Given the description of an element on the screen output the (x, y) to click on. 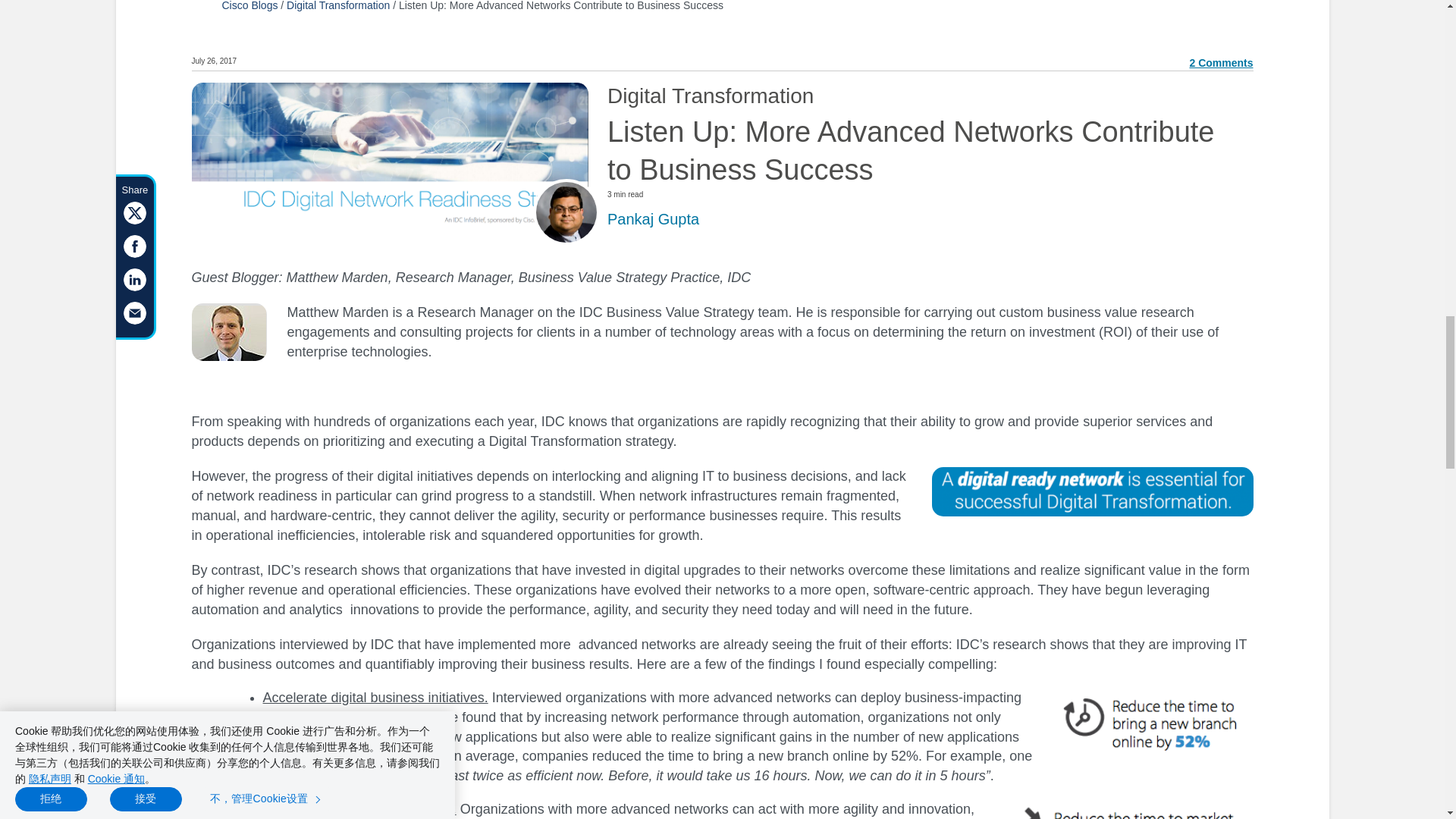
Posts by Pankaj Gupta (652, 218)
Cisco Blogs (249, 5)
Digital Transformation (338, 5)
Pankaj Gupta (652, 218)
